Given the description of an element on the screen output the (x, y) to click on. 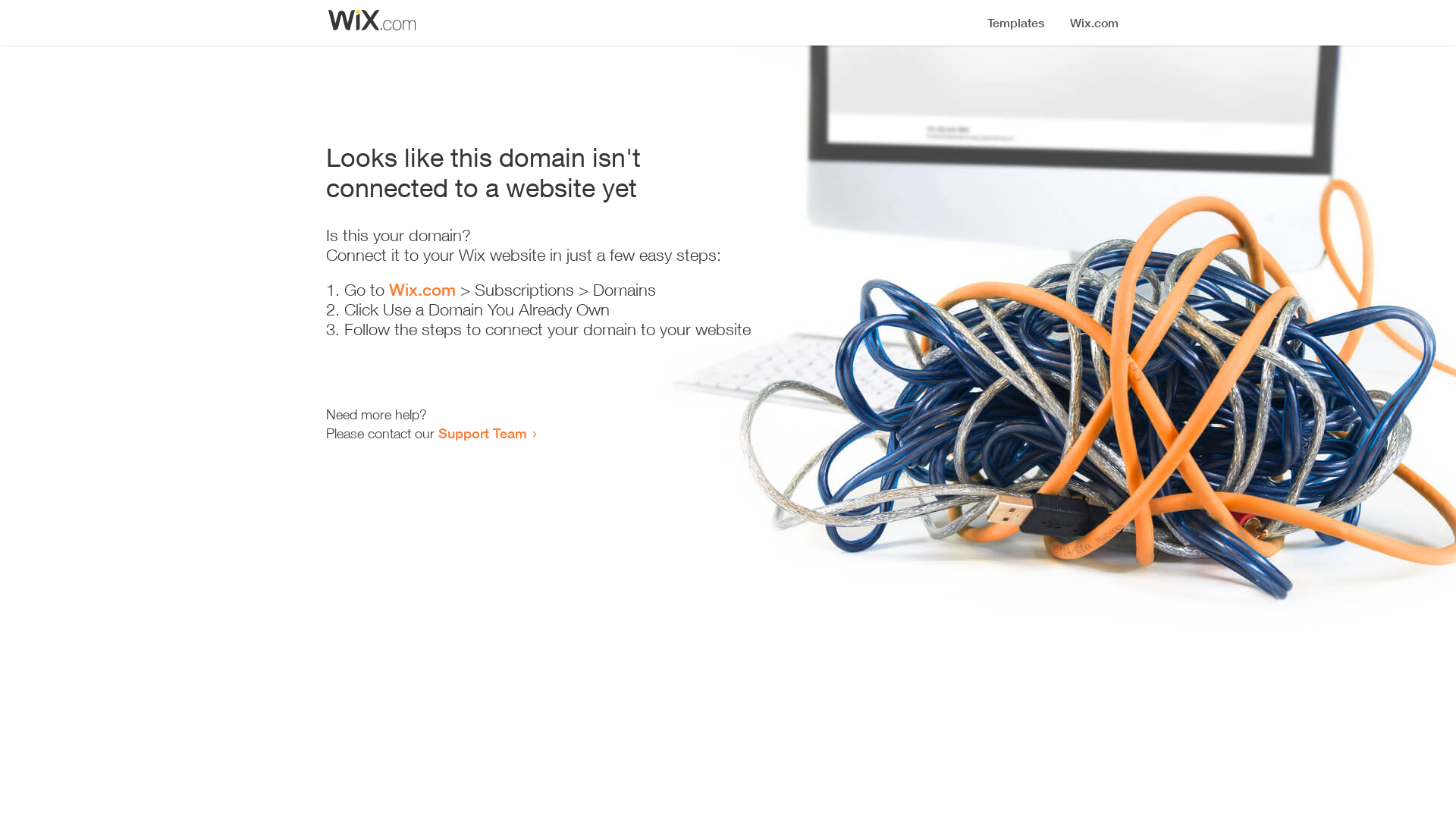
Wix.com Element type: text (422, 289)
Support Team Element type: text (482, 432)
